Given the description of an element on the screen output the (x, y) to click on. 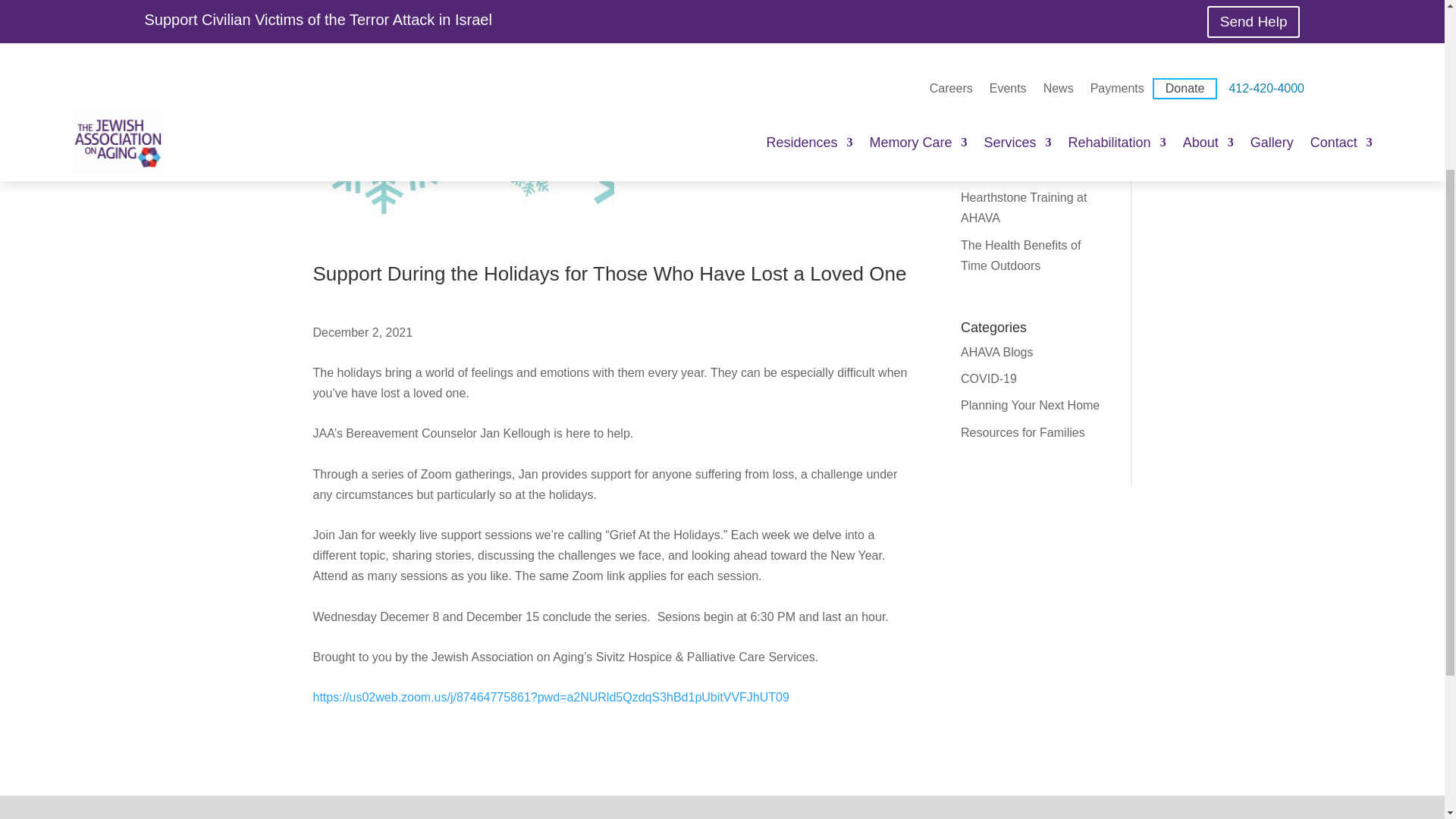
Graphic about grief during the holidays (463, 128)
